Given the description of an element on the screen output the (x, y) to click on. 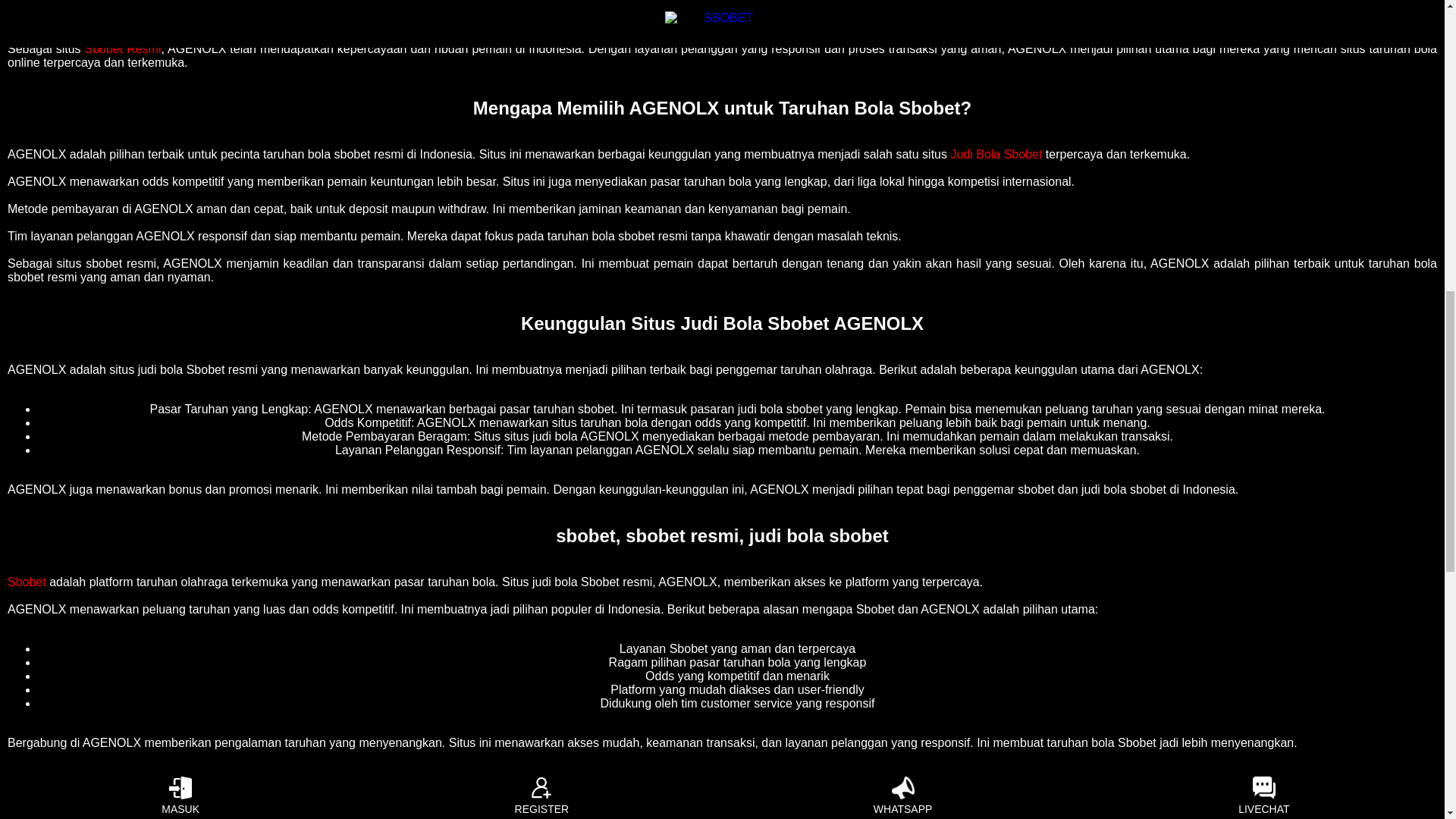
Sbobet (26, 581)
Judi Bola Sbobet (996, 154)
Sbobet (26, 581)
Sbobet Resmi (122, 48)
Sbobet Resmi (122, 48)
Judi Bola Sbobet (996, 154)
